Given the description of an element on the screen output the (x, y) to click on. 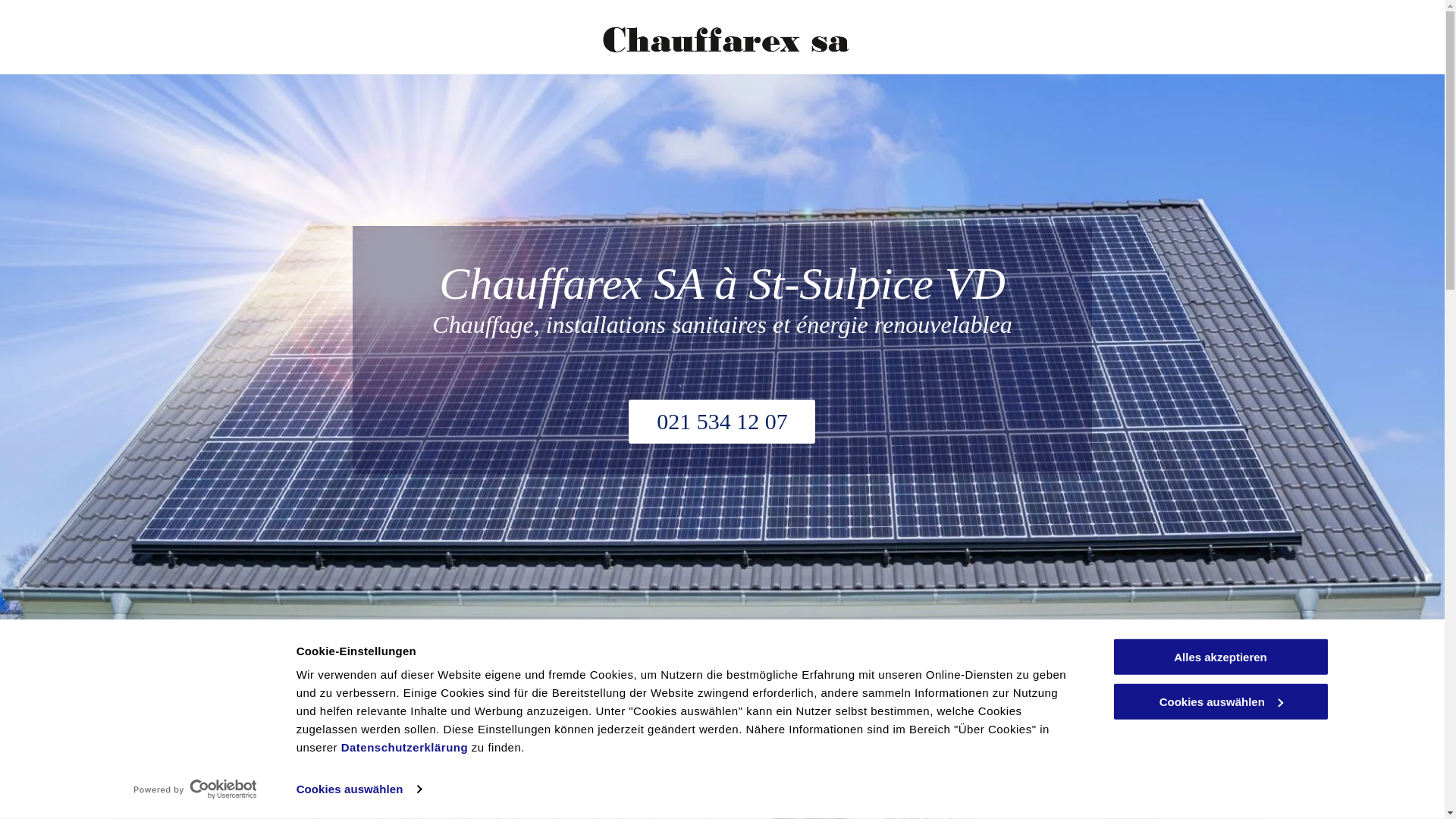
Alles akzeptieren Element type: text (1219, 656)
021 534 12 07 Element type: text (721, 421)
